Given the description of an element on the screen output the (x, y) to click on. 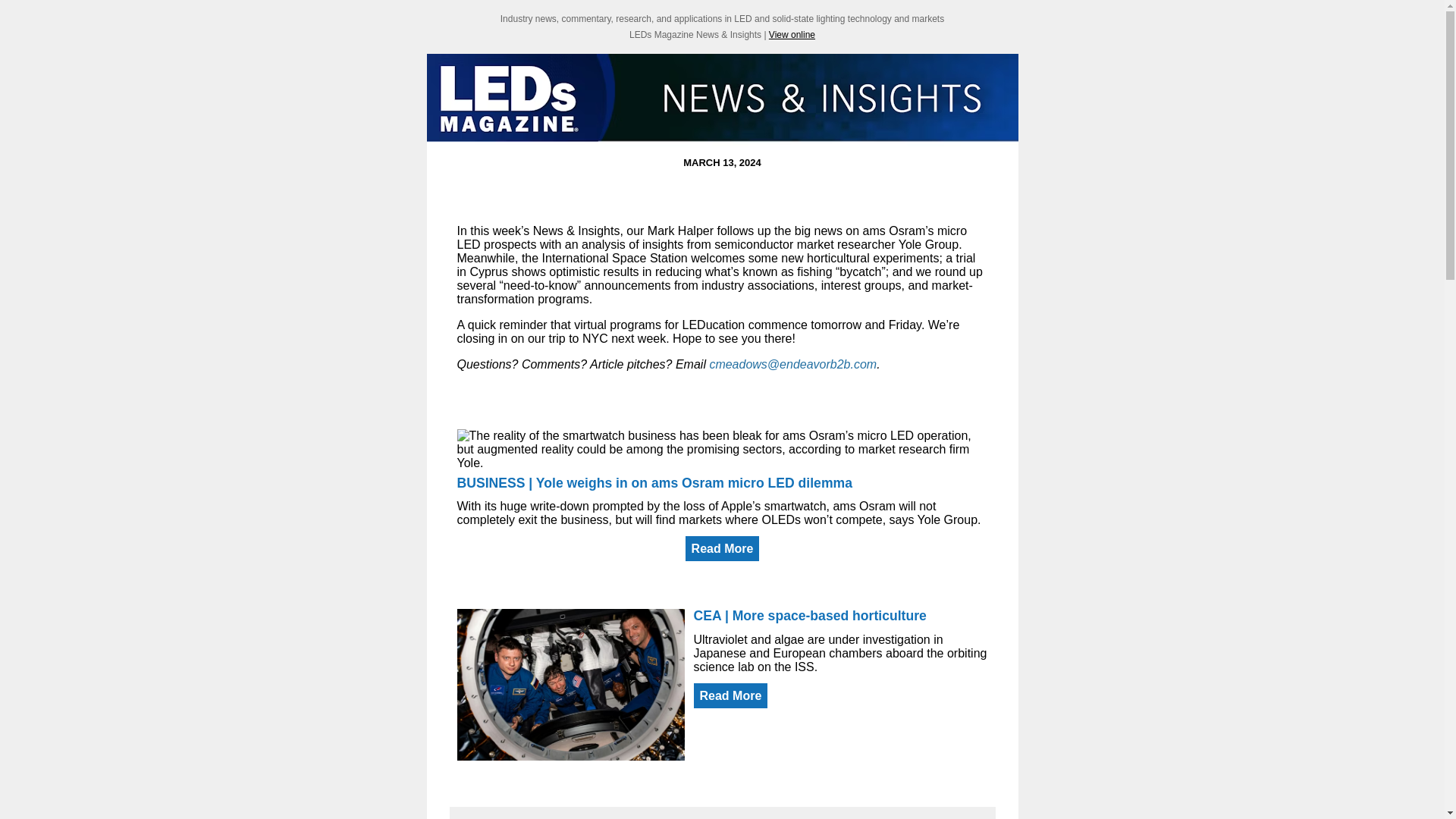
Read More (722, 548)
View online (791, 34)
Read More (730, 695)
